Given the description of an element on the screen output the (x, y) to click on. 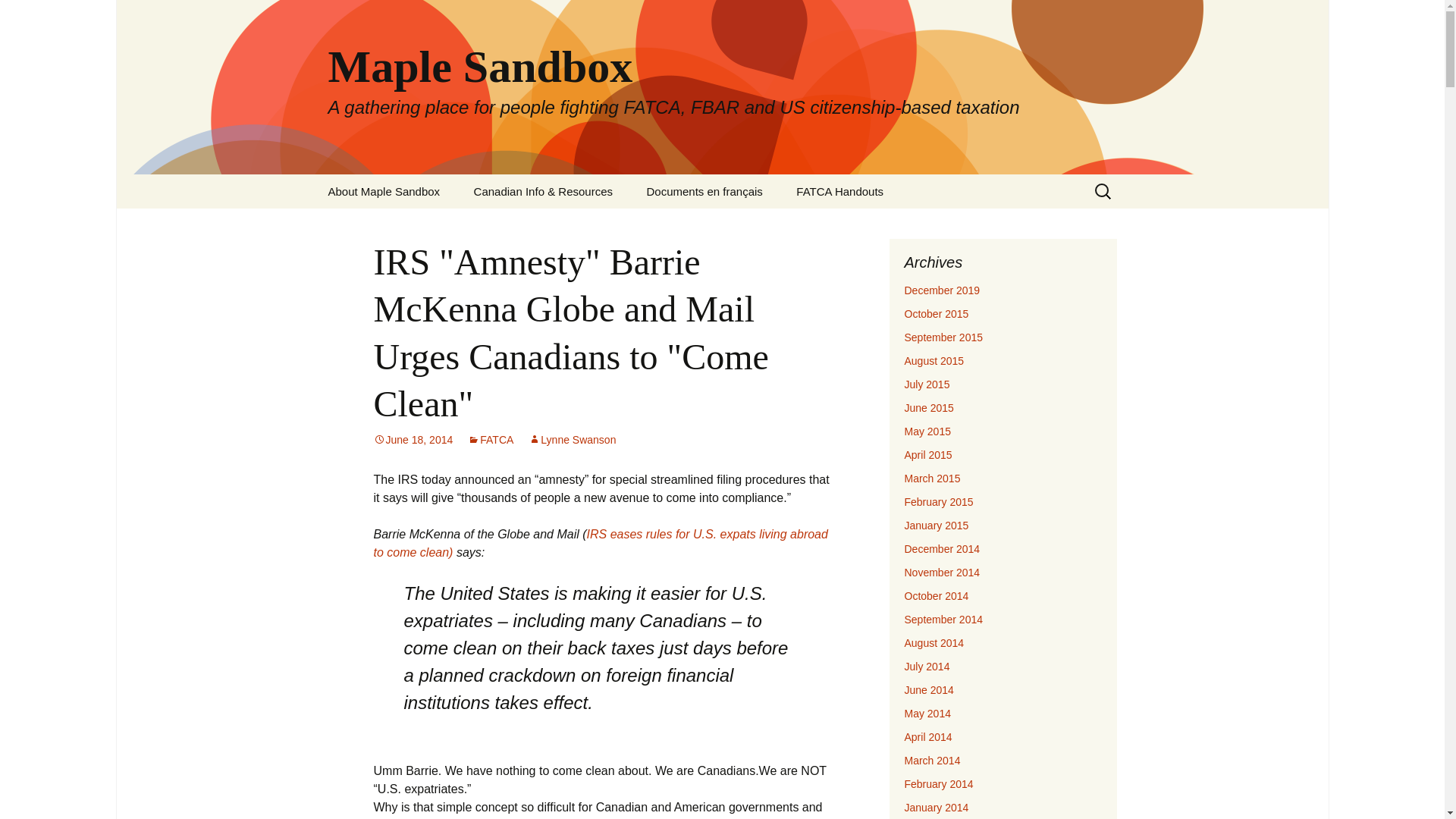
FATCA Handouts (839, 191)
About Maple Sandbox (383, 191)
View all posts by Lynne Swanson (571, 439)
June 18, 2014 (412, 439)
IRS Eases Rules (599, 542)
Search (18, 15)
Lynne Swanson (571, 439)
FATCA (490, 439)
